Given the description of an element on the screen output the (x, y) to click on. 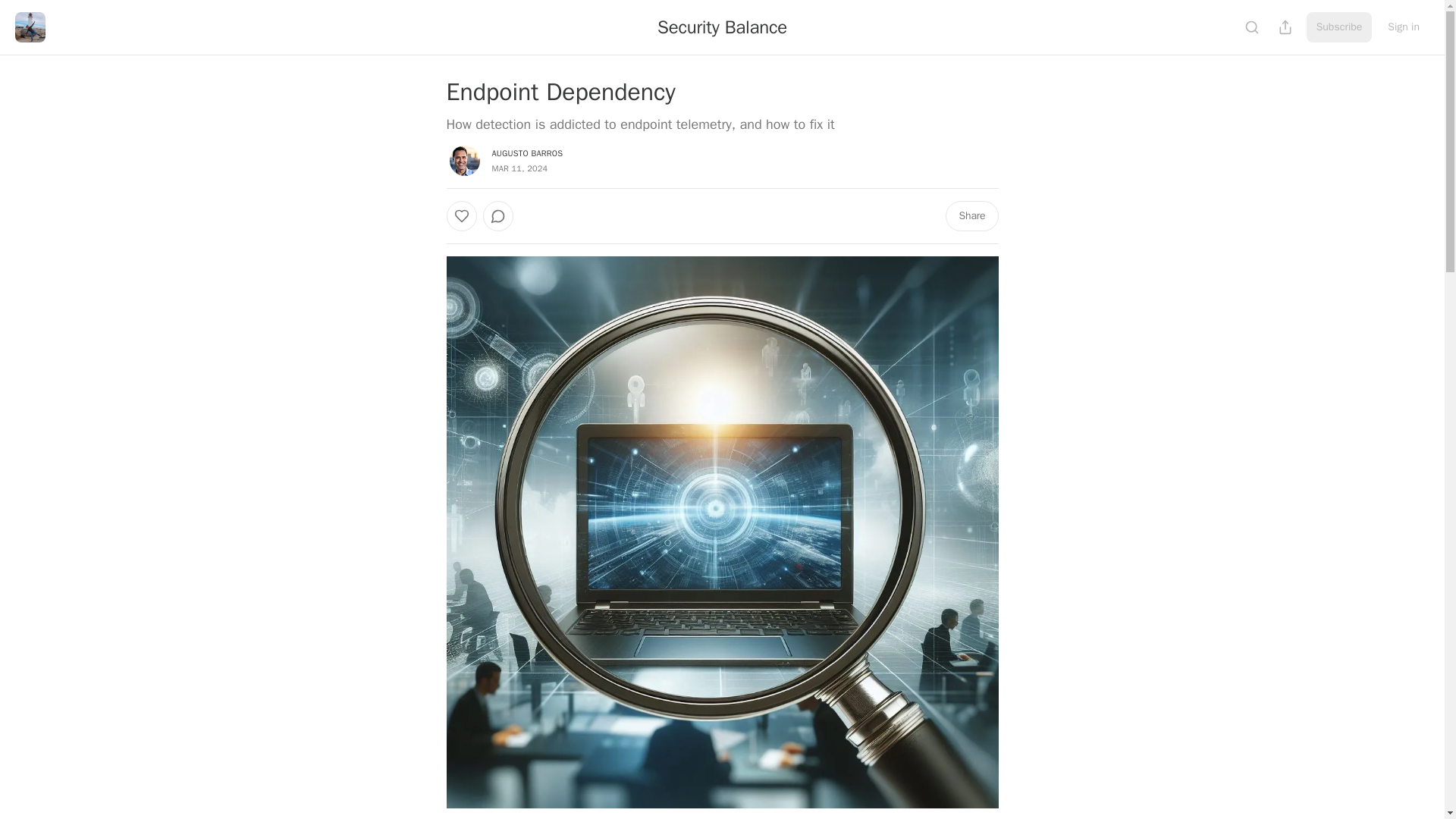
Share (970, 215)
Security Balance (722, 26)
AUGUSTO BARROS (527, 153)
Subscribe (1339, 27)
Sign in (1403, 27)
